Given the description of an element on the screen output the (x, y) to click on. 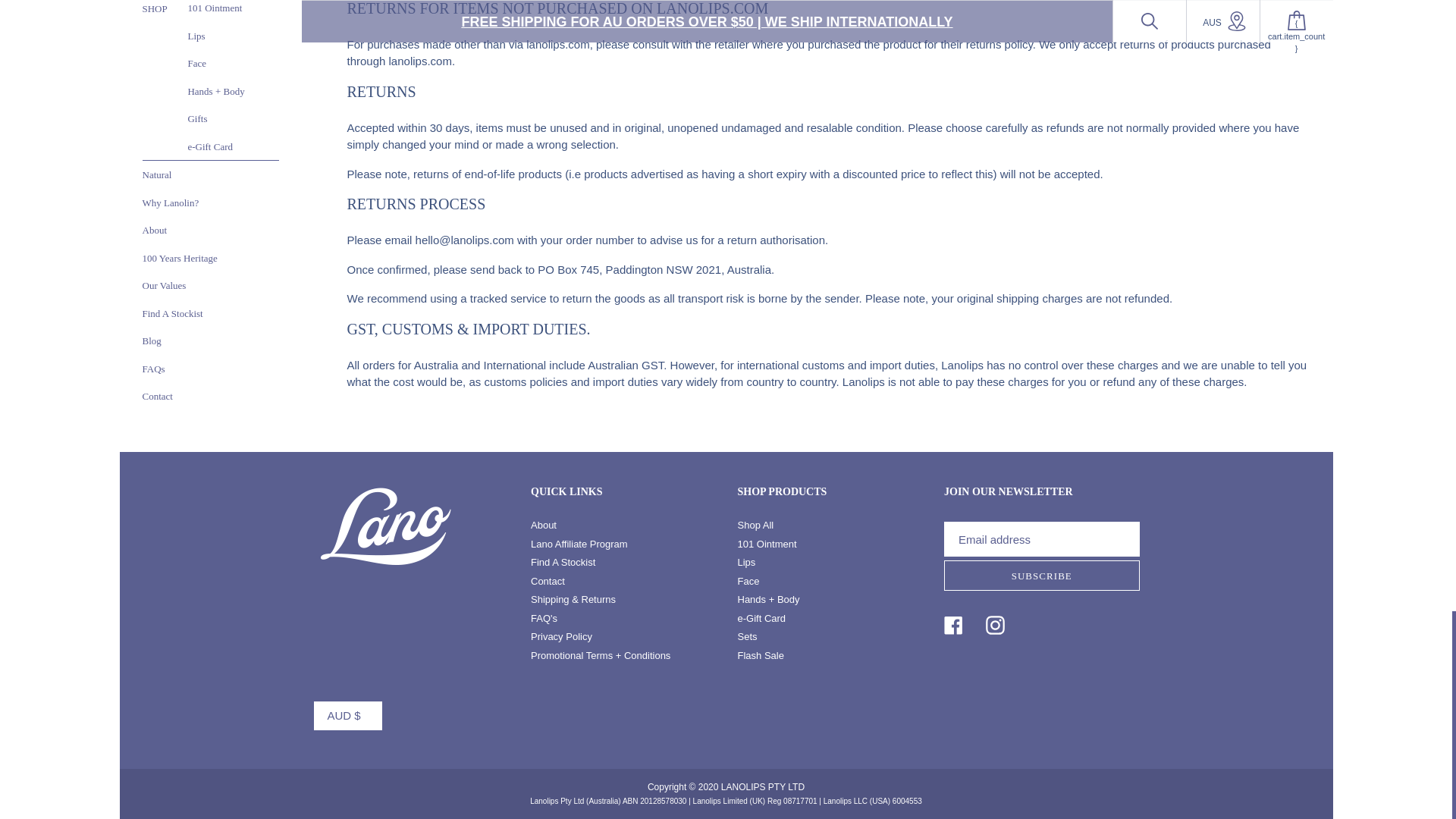
Find A Stockist (563, 562)
About (543, 524)
Lano Affiliate Program (579, 543)
Contact (547, 581)
